Given the description of an element on the screen output the (x, y) to click on. 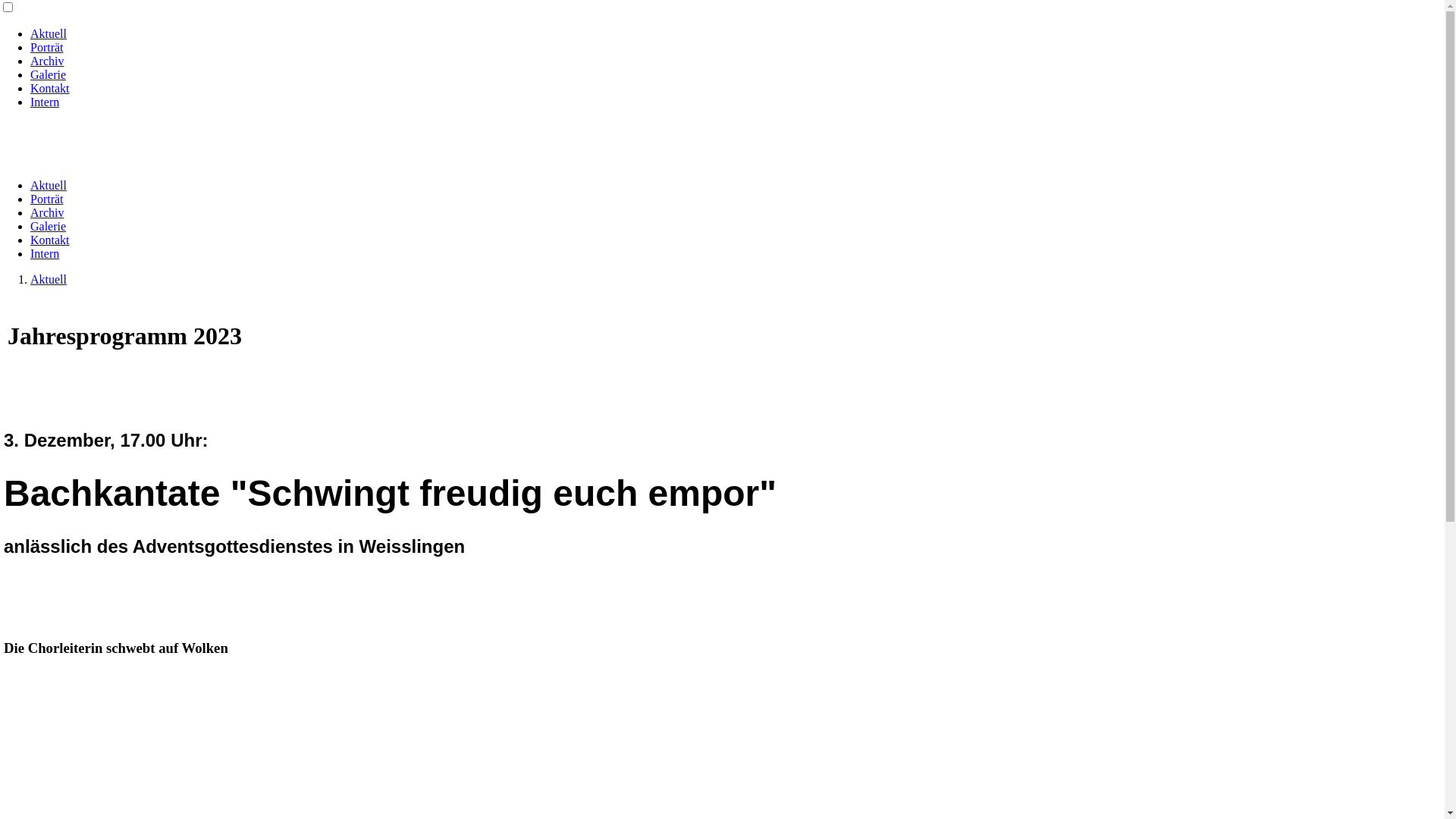
Kontakt Element type: text (49, 239)
Aktuell Element type: text (48, 279)
Aktuell Element type: text (48, 184)
Intern Element type: text (44, 101)
Intern Element type: text (44, 253)
Galerie Element type: text (47, 74)
Galerie Element type: text (47, 225)
Kontakt Element type: text (49, 87)
Aktuell Element type: text (48, 33)
Archiv Element type: text (46, 60)
Archiv Element type: text (46, 212)
